Given the description of an element on the screen output the (x, y) to click on. 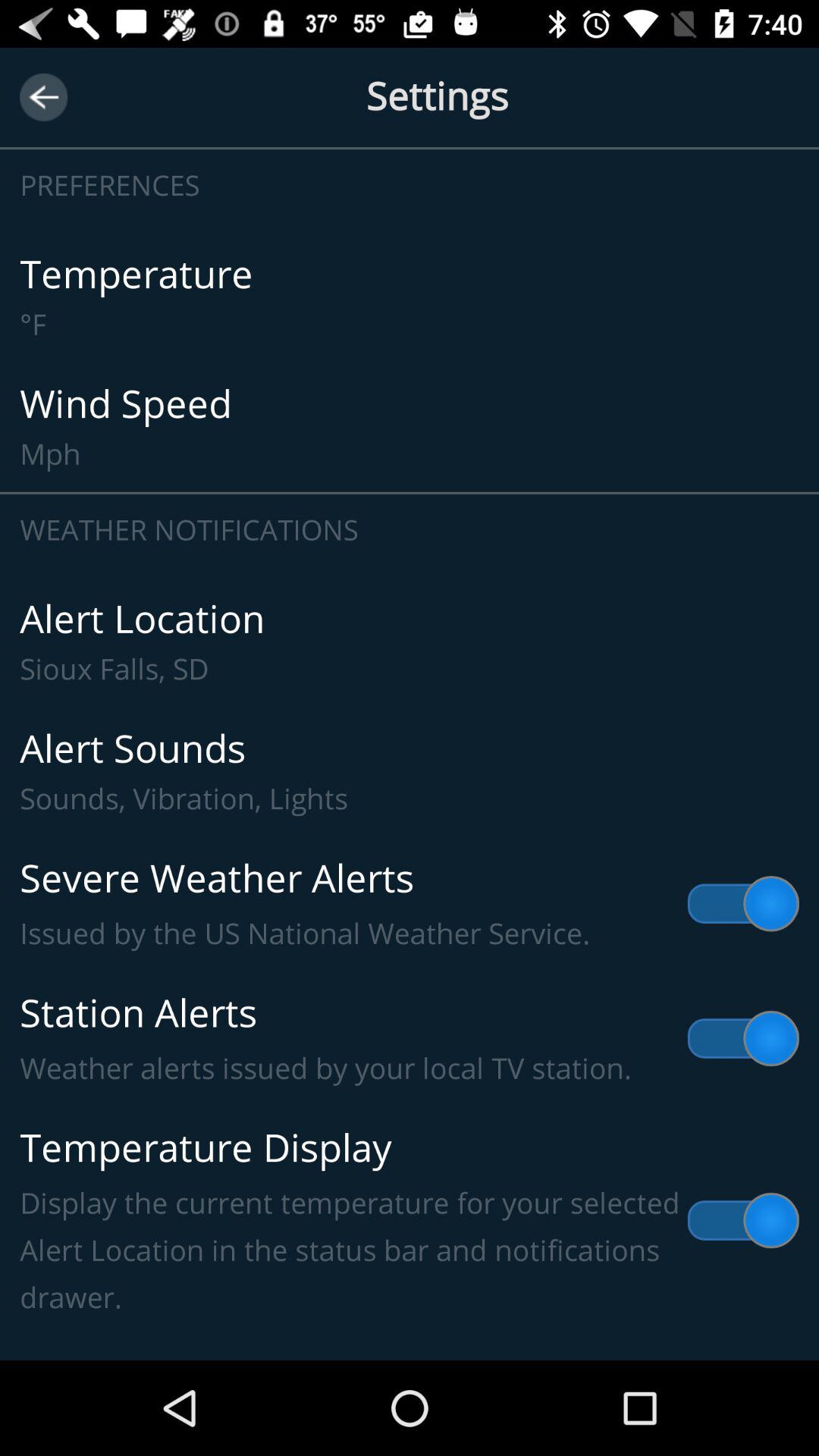
jump to the lock screen weather item (409, 1337)
